Given the description of an element on the screen output the (x, y) to click on. 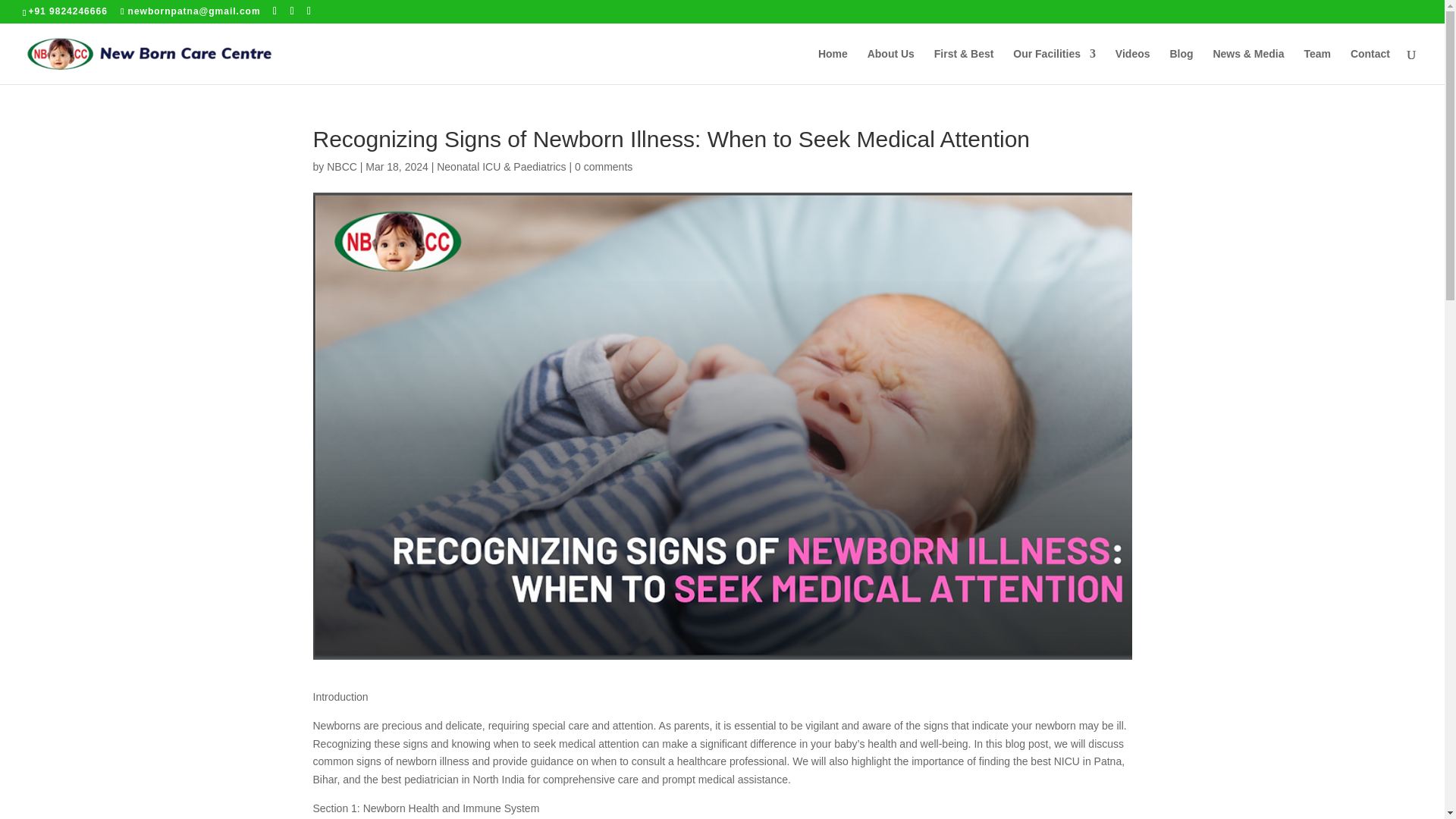
Contact (1370, 66)
Our Facilities (1054, 66)
Posts by NBCC (341, 166)
NBCC (341, 166)
Videos (1132, 66)
About Us (890, 66)
0 comments (603, 166)
